Given the description of an element on the screen output the (x, y) to click on. 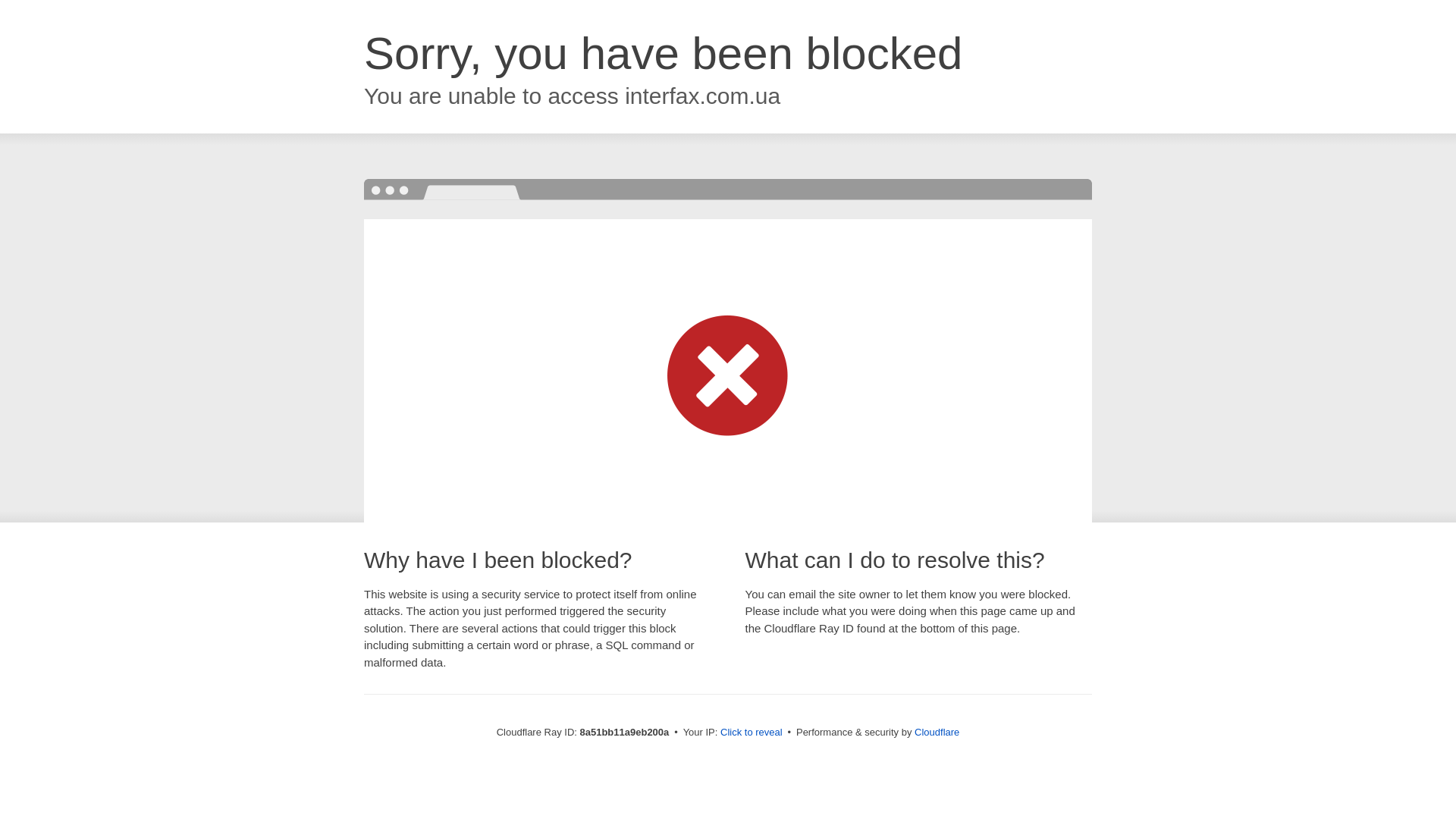
Cloudflare (936, 731)
Click to reveal (751, 732)
